Given the description of an element on the screen output the (x, y) to click on. 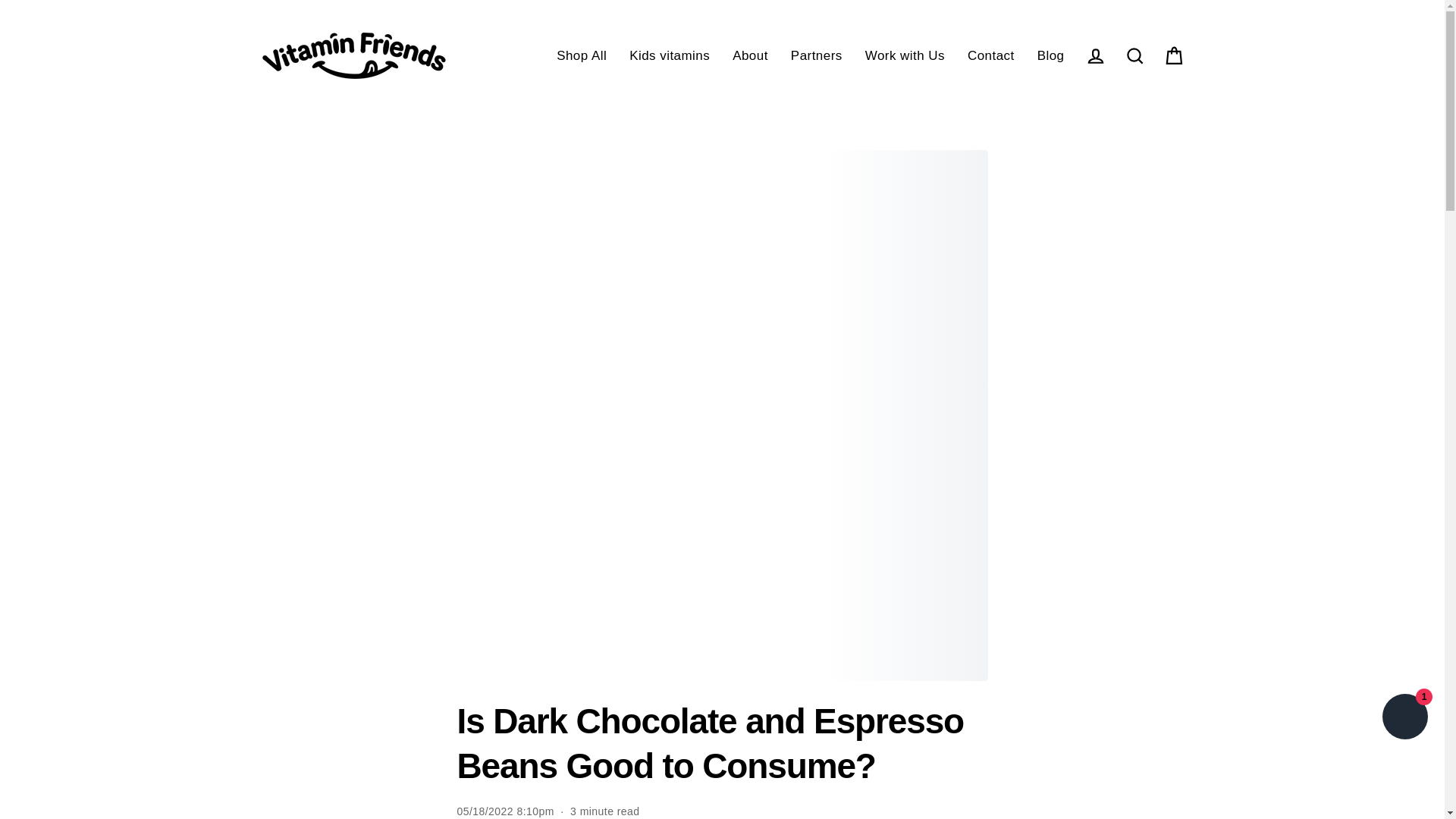
Shopify online store chat (1404, 717)
